Given the description of an element on the screen output the (x, y) to click on. 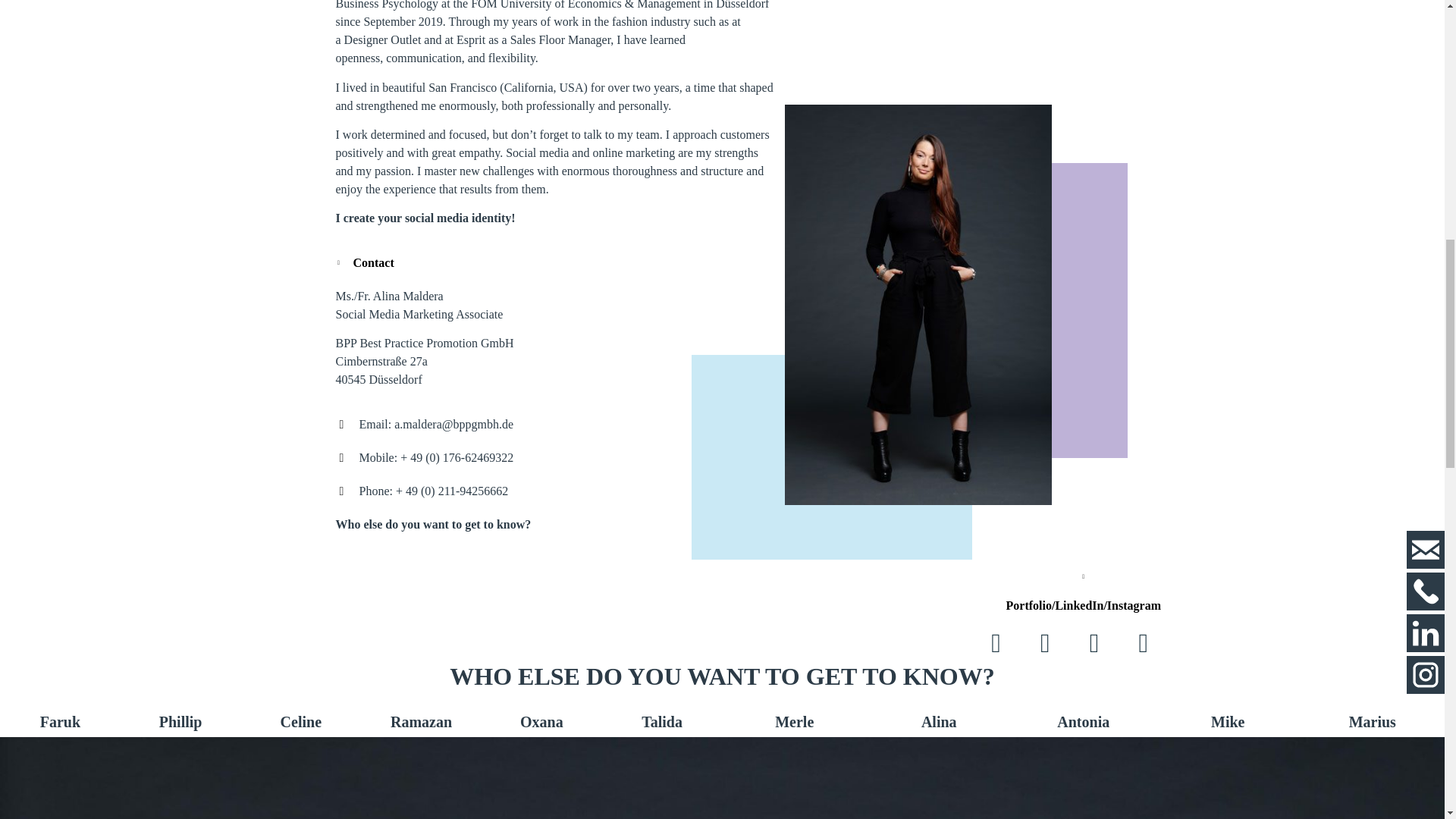
Merle (793, 721)
Mike (1227, 721)
Oxana (541, 721)
Alina (938, 721)
Phillip (180, 721)
Antonia (1083, 721)
Celine (301, 721)
Marius (1372, 721)
Talida (662, 721)
Faruk (60, 721)
Ramazan (420, 721)
